Given the description of an element on the screen output the (x, y) to click on. 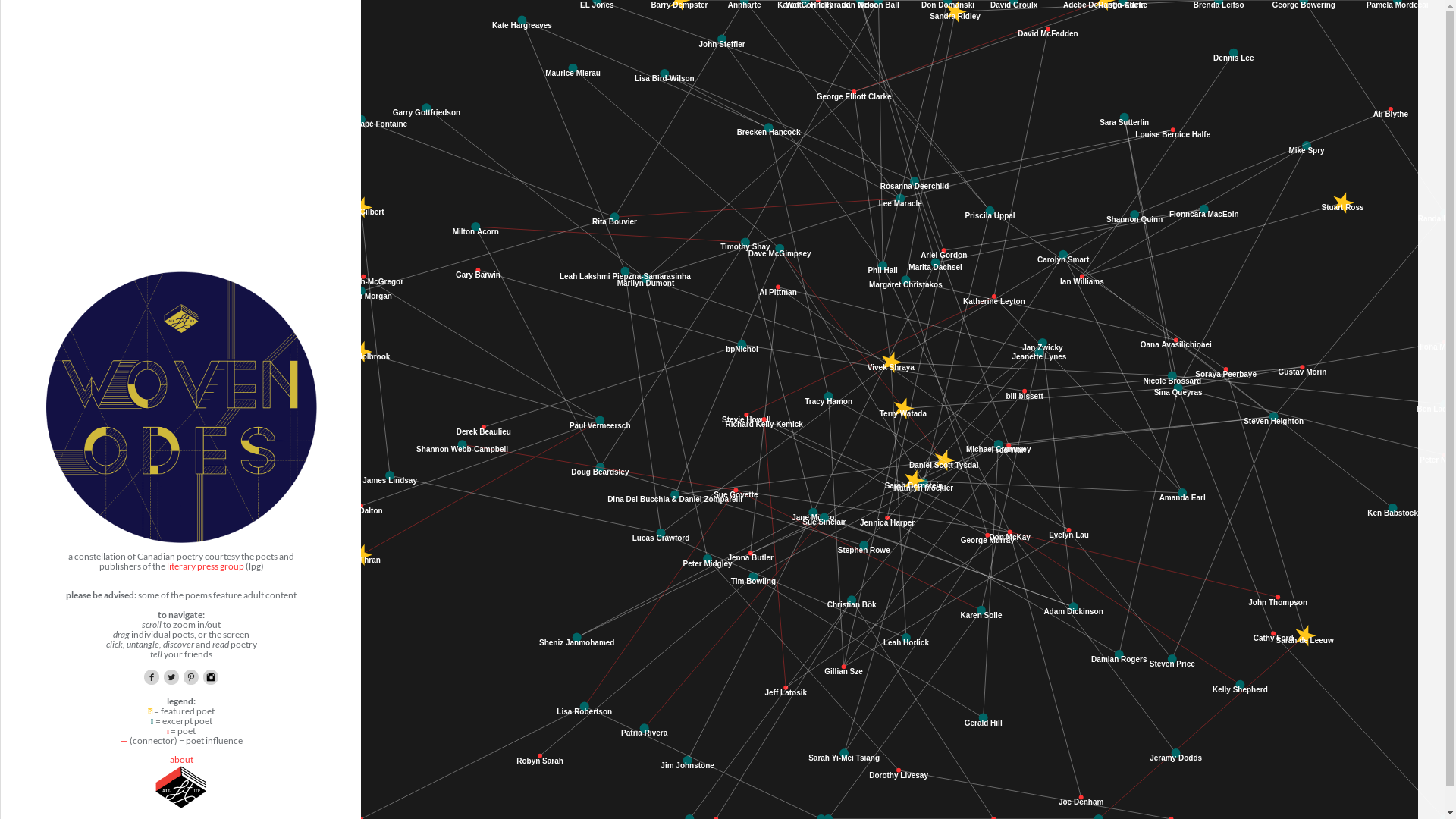
about Element type: text (181, 759)
literary press group Element type: text (205, 566)
